Given the description of an element on the screen output the (x, y) to click on. 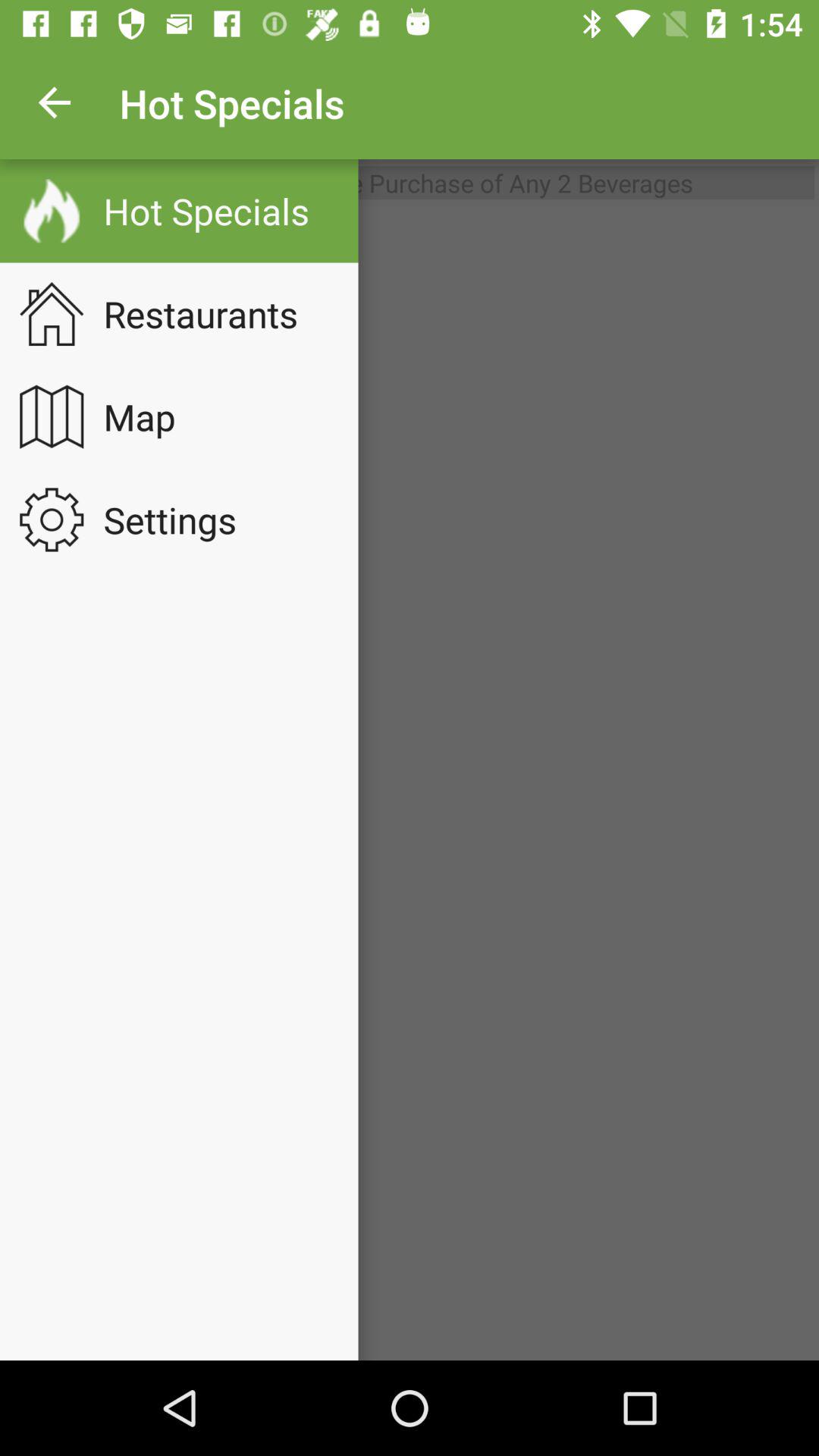
turn off map icon (149, 416)
